Given the description of an element on the screen output the (x, y) to click on. 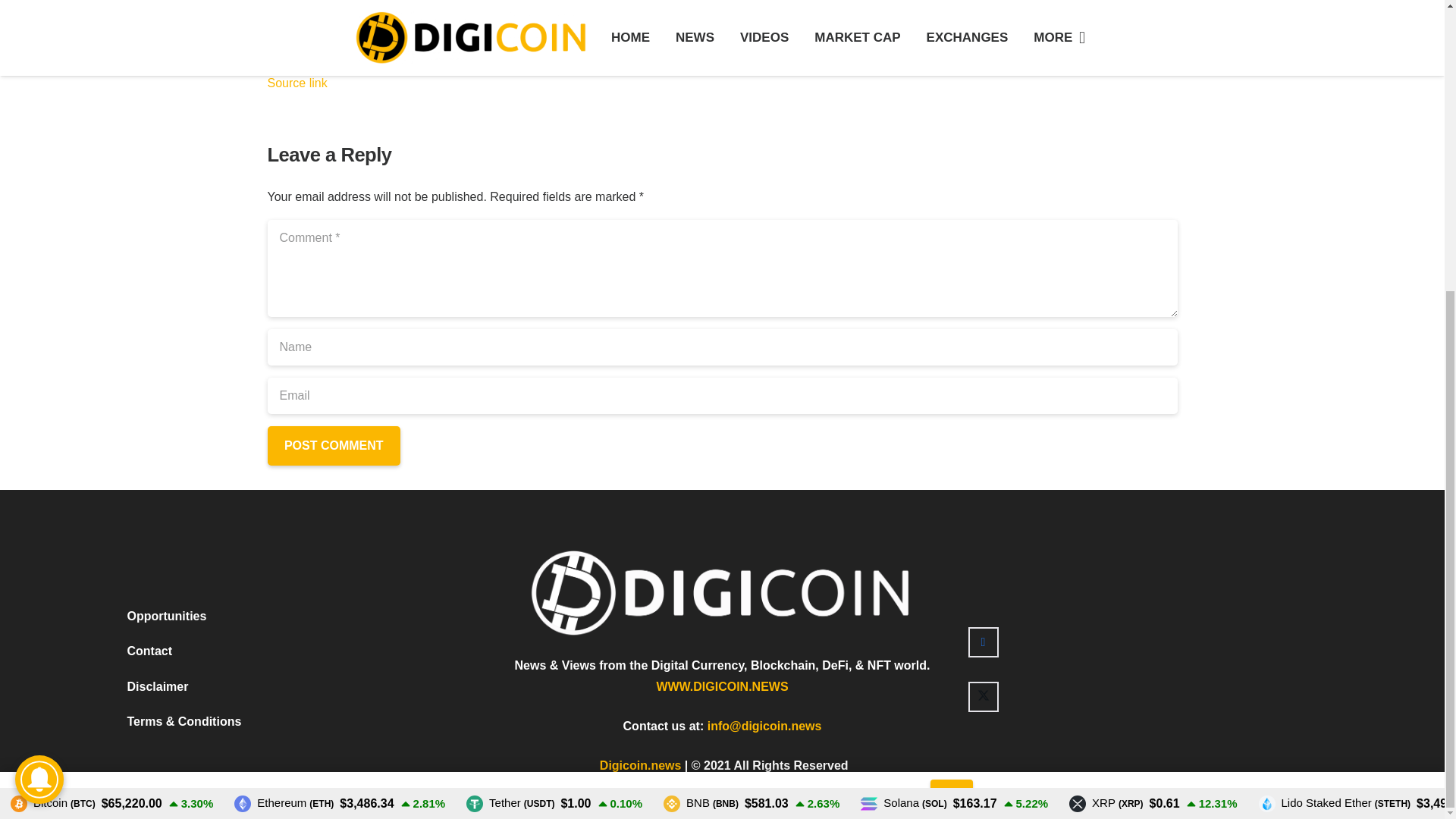
WWW.DIGICOIN.NEWS (721, 241)
Twitter (982, 252)
Tether (509, 359)
Opportunities (167, 171)
Disclaimer (158, 241)
Solana (903, 359)
XRP (1105, 359)
Source link (296, 82)
Lido Staked Ether (1334, 359)
Facebook (982, 197)
POST COMMENT (332, 445)
Digicoin.news (640, 320)
Contact (150, 205)
Bitcoin (53, 359)
BNB (700, 359)
